Given the description of an element on the screen output the (x, y) to click on. 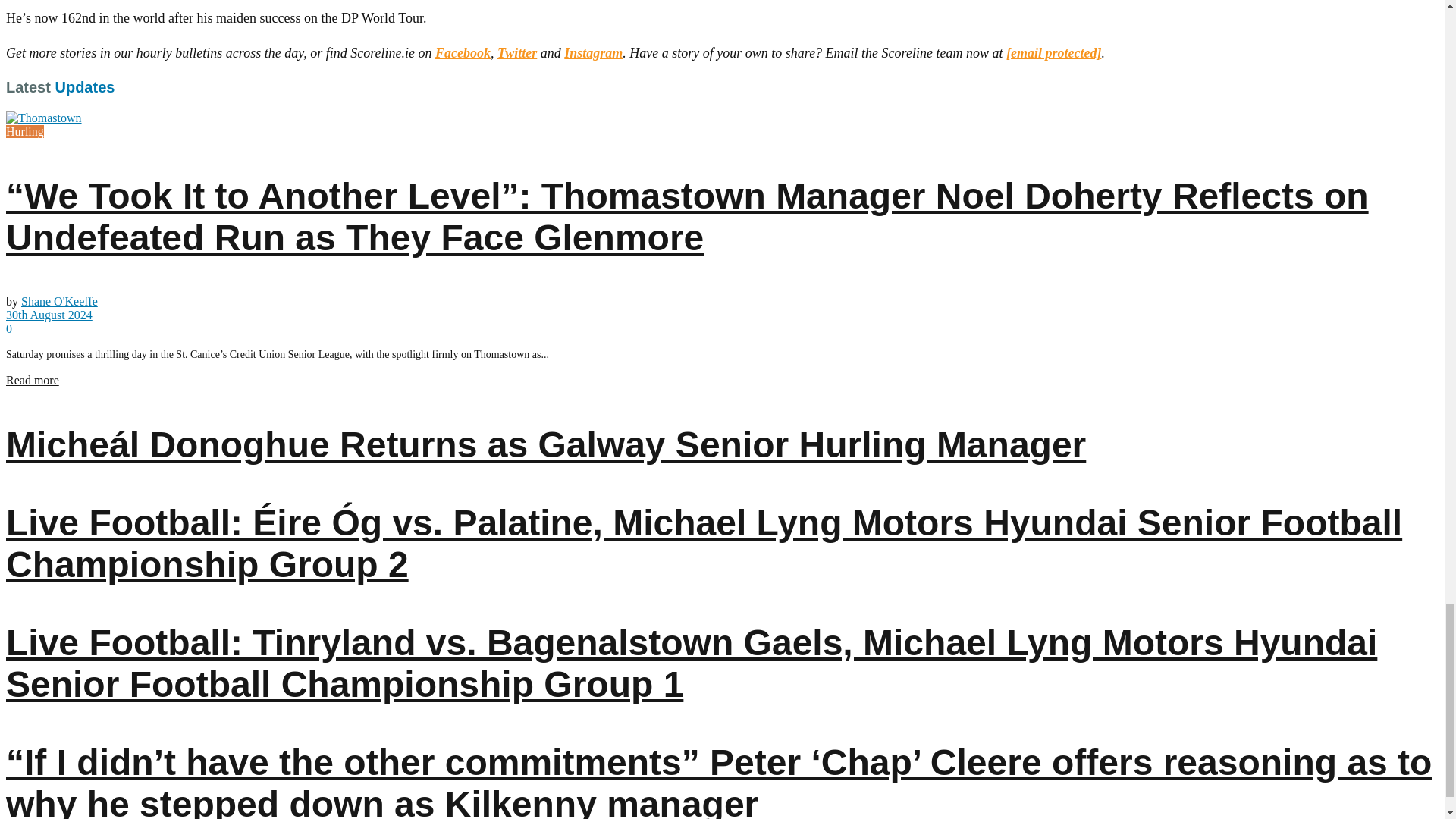
Facebook (462, 52)
30th August 2024 (49, 314)
Instagram (593, 52)
Shane O'Keeffe (59, 300)
Twitter (517, 52)
Hurling (24, 131)
Read more (32, 379)
